Given the description of an element on the screen output the (x, y) to click on. 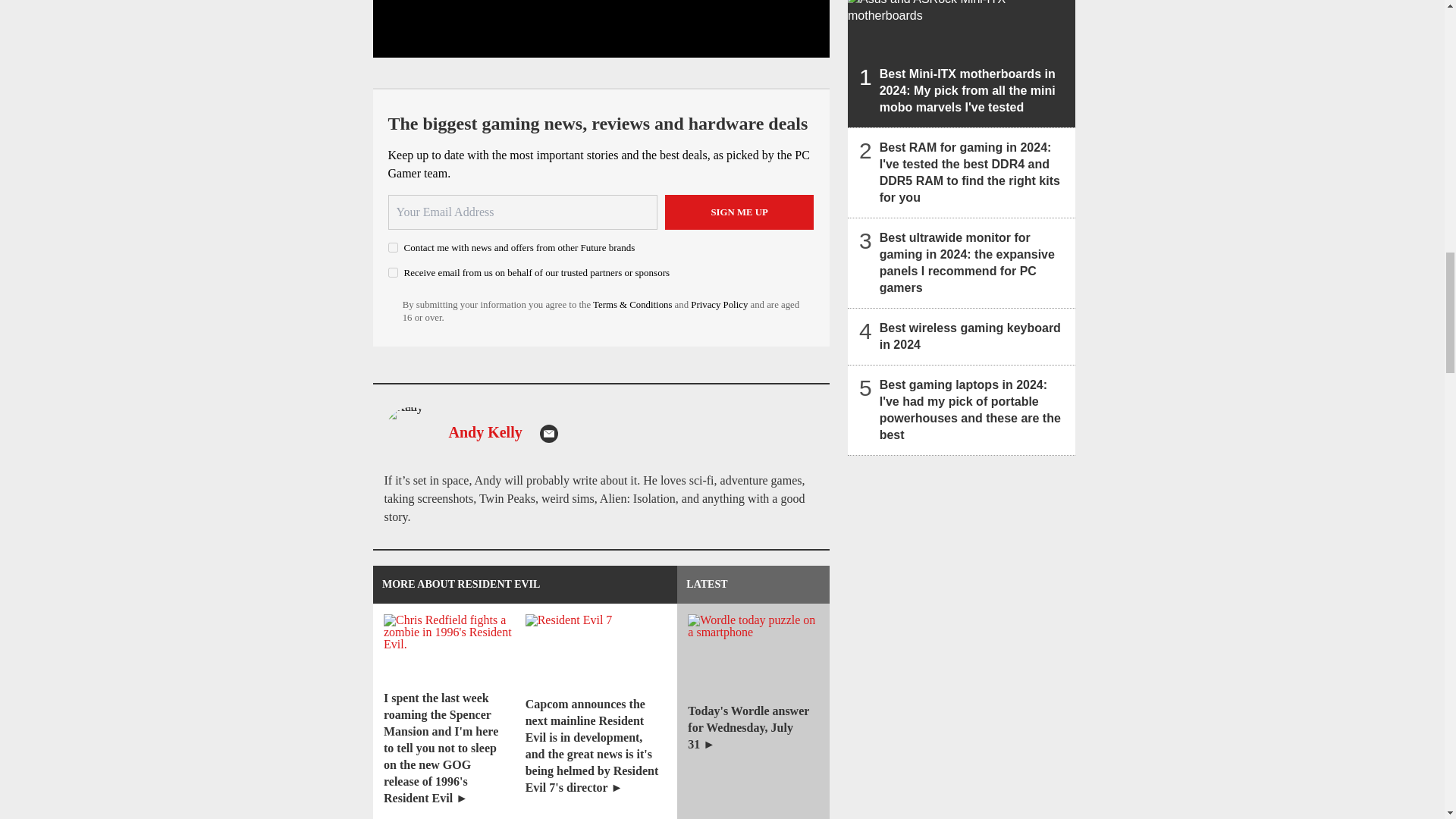
on (392, 247)
Sign me up (739, 212)
on (392, 272)
